Given the description of an element on the screen output the (x, y) to click on. 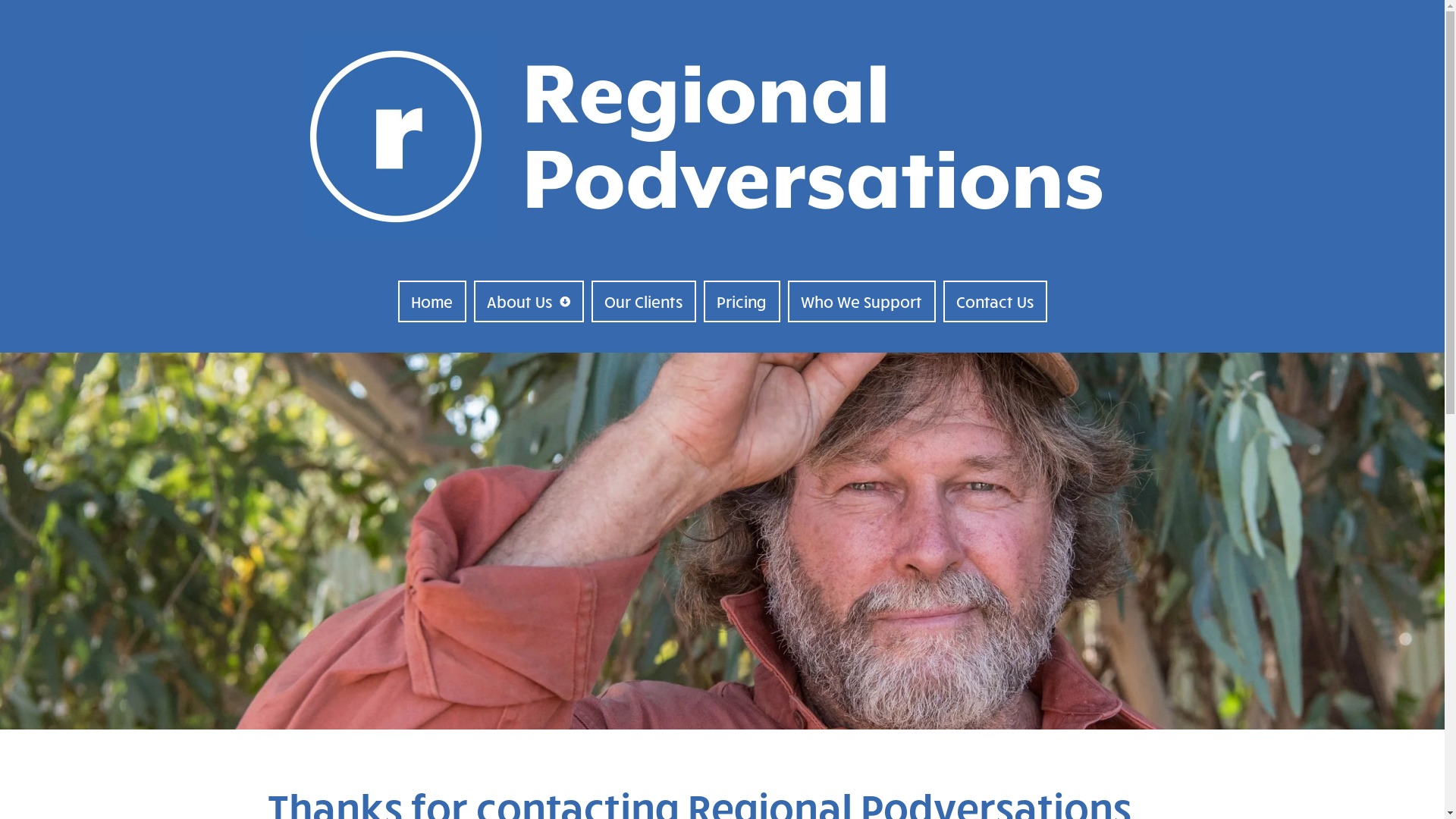
Pricing Element type: text (741, 301)
Home Element type: text (430, 301)
Contact Us Element type: text (995, 301)
Our Clients Element type: text (643, 301)
Who We Support Element type: text (861, 301)
About Us Element type: text (528, 301)
